Given the description of an element on the screen output the (x, y) to click on. 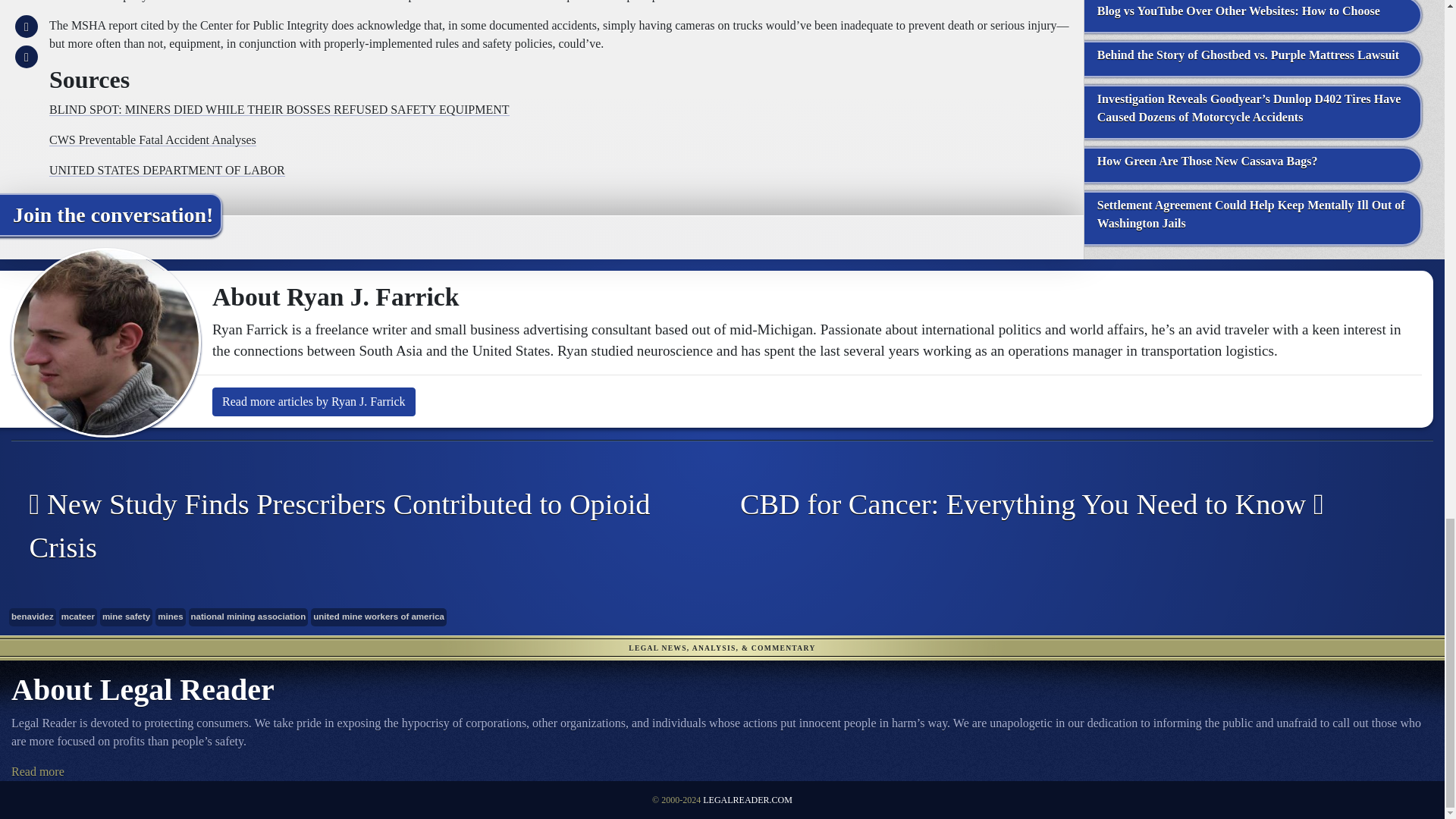
 New Study Finds Prescribers Contributed to Opioid Crisis (355, 526)
benavidez (32, 616)
national mining association (248, 616)
mine safety (126, 616)
Read more articles by Ryan J. Farrick (313, 401)
CBD for Cancer: Everything You Need to Know  (1066, 505)
mcateer (78, 616)
Read more (37, 771)
united mine workers of america (378, 616)
